Given the description of an element on the screen output the (x, y) to click on. 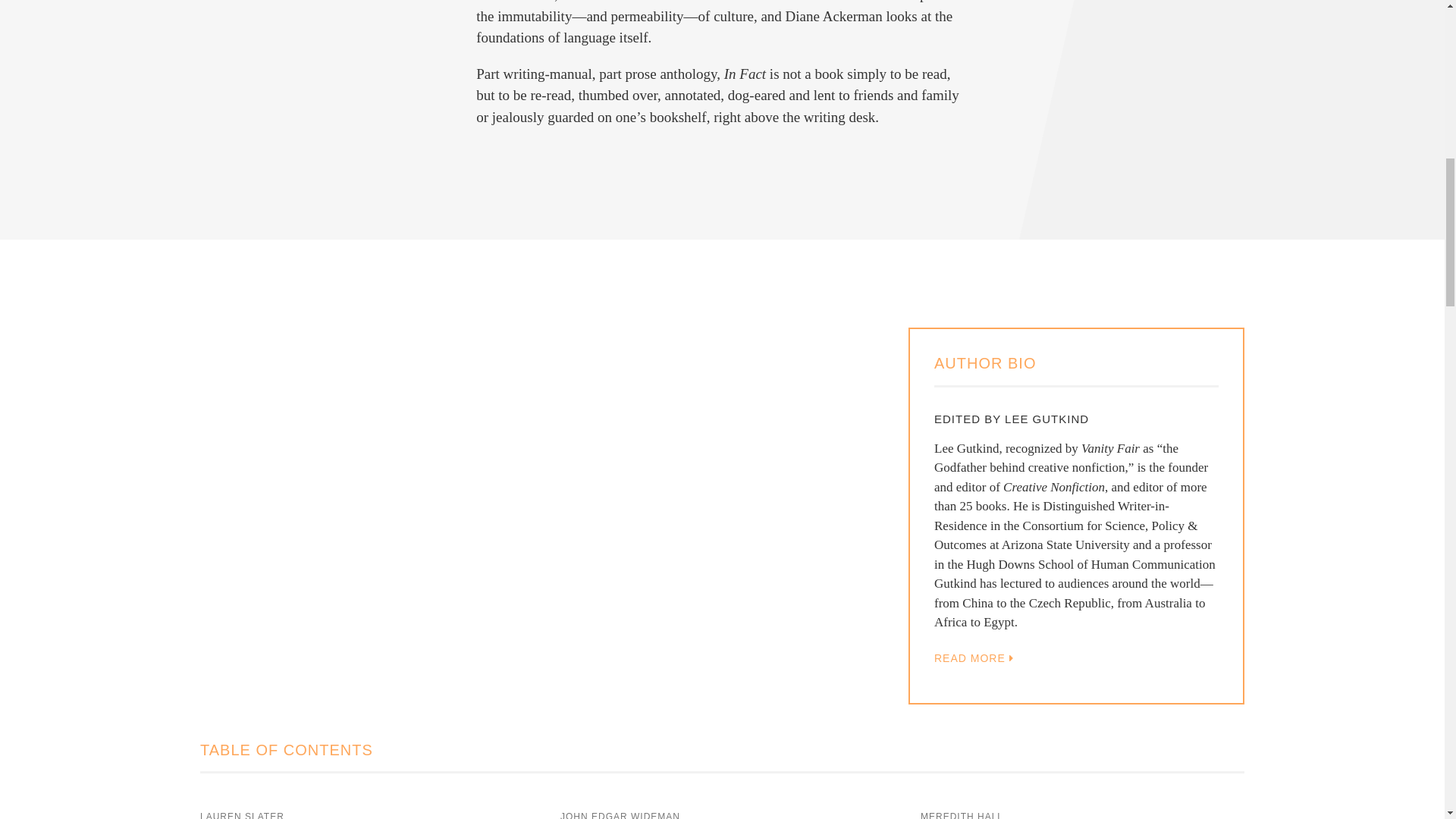
Edited by Lee Gutkind (1076, 658)
Looking at Emmett Till (721, 814)
Three Spheres (362, 814)
Shunned (1082, 814)
